Given the description of an element on the screen output the (x, y) to click on. 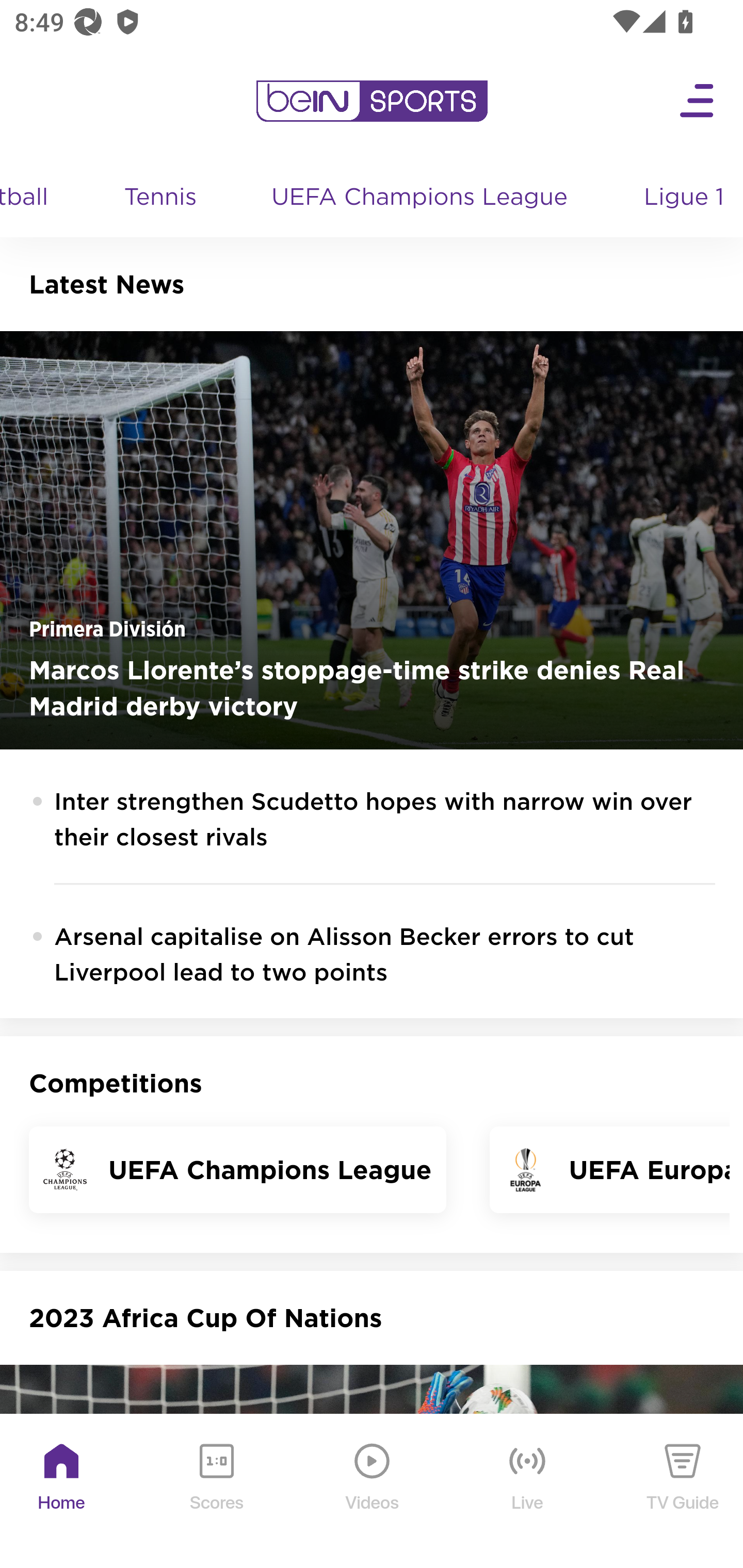
en-my?platform=mobile_android bein logo (371, 101)
Open Menu Icon (697, 101)
Tennis (161, 198)
UEFA Champions League (421, 198)
Ligue 1 (685, 198)
Home Home Icon Home (61, 1491)
Scores Scores Icon Scores (216, 1491)
Videos Videos Icon Videos (372, 1491)
TV Guide TV Guide Icon TV Guide (682, 1491)
